Given the description of an element on the screen output the (x, y) to click on. 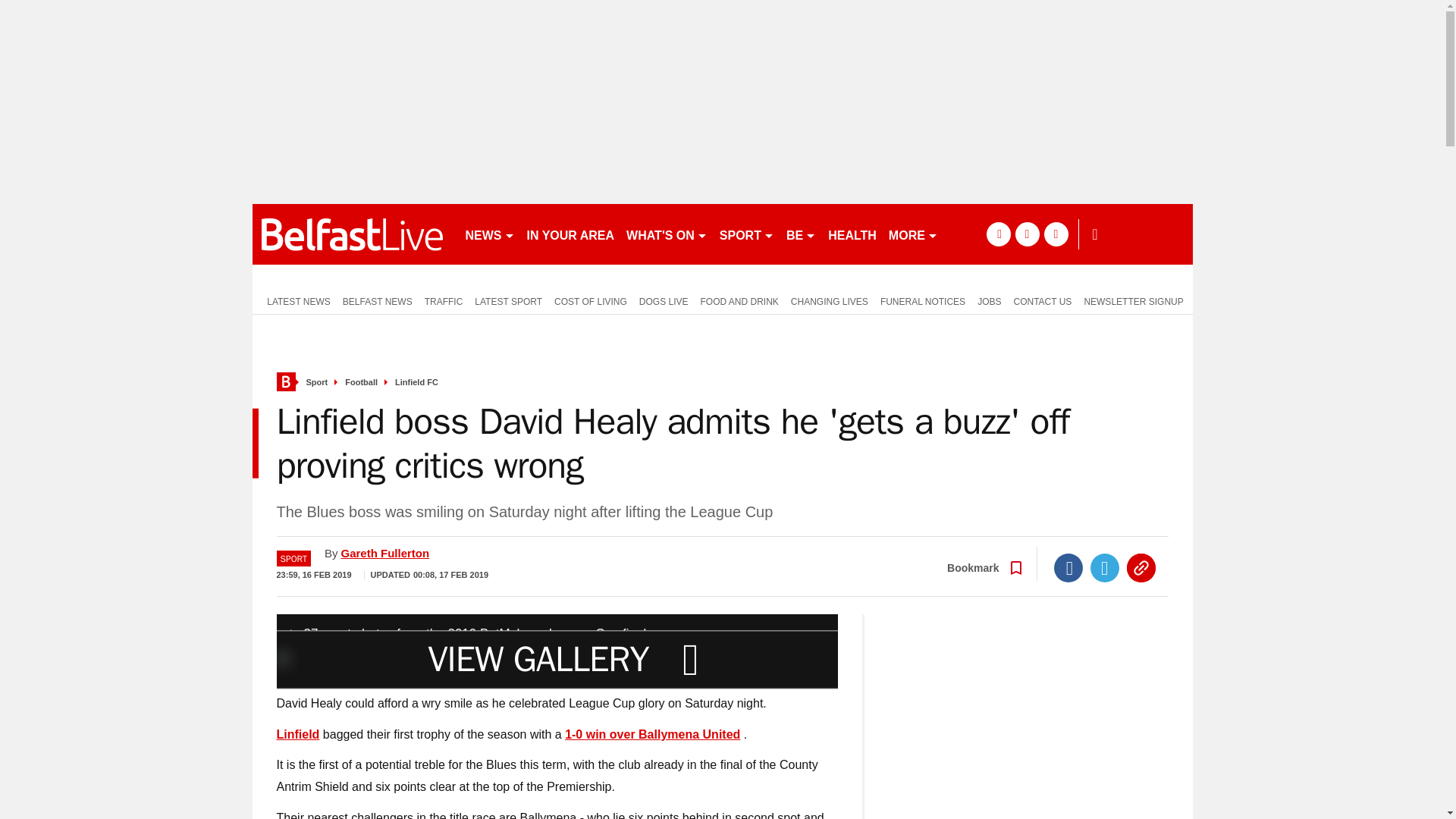
Facebook (1068, 567)
WHAT'S ON (666, 233)
SPORT (746, 233)
belfastlive (351, 233)
instagram (1055, 233)
facebook (997, 233)
twitter (1026, 233)
NEWS (490, 233)
IN YOUR AREA (569, 233)
Twitter (1104, 567)
